Given the description of an element on the screen output the (x, y) to click on. 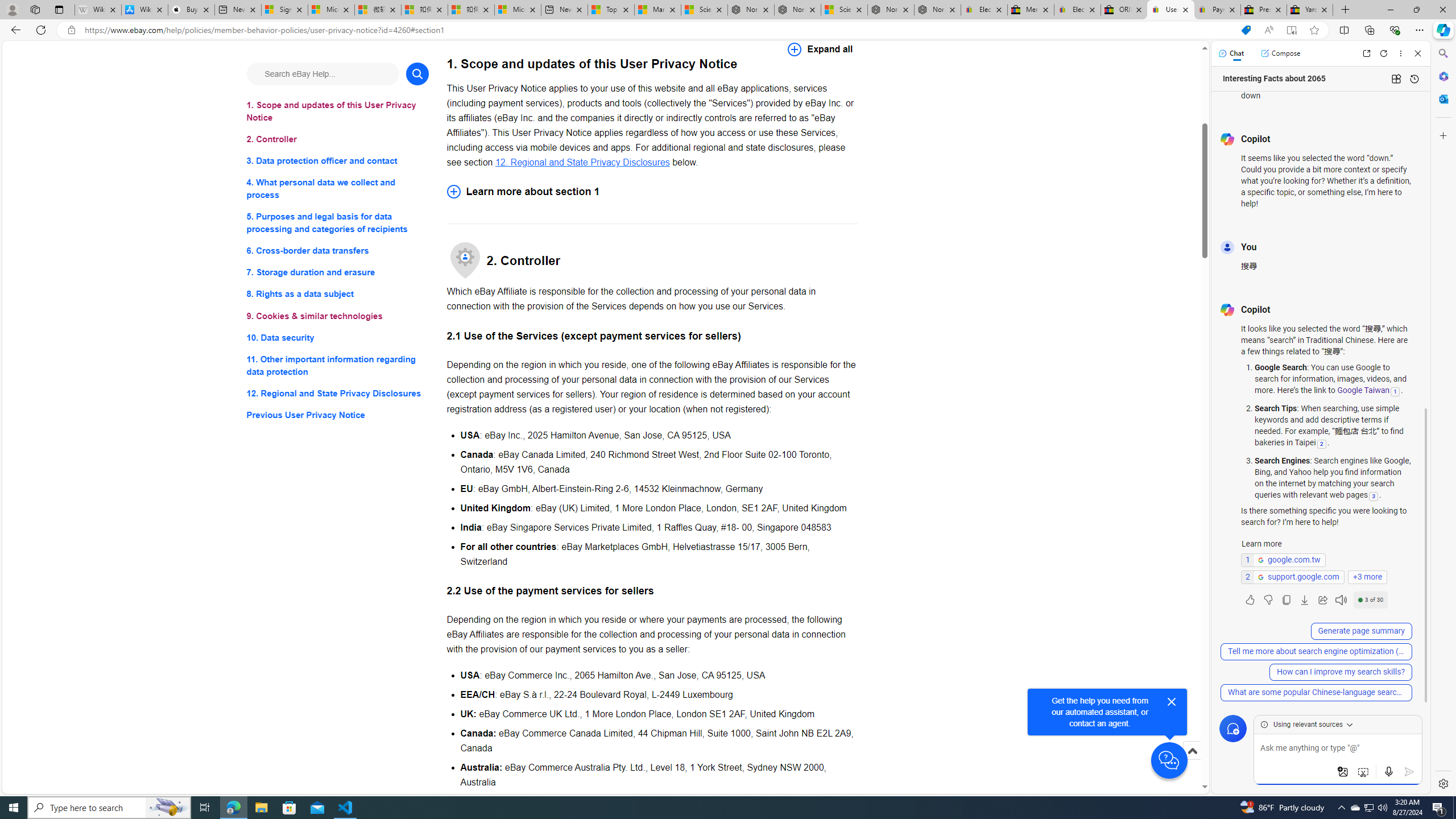
Compose (1280, 52)
Scroll to top (1191, 762)
3. Data protection officer and contact (337, 160)
